Given the description of an element on the screen output the (x, y) to click on. 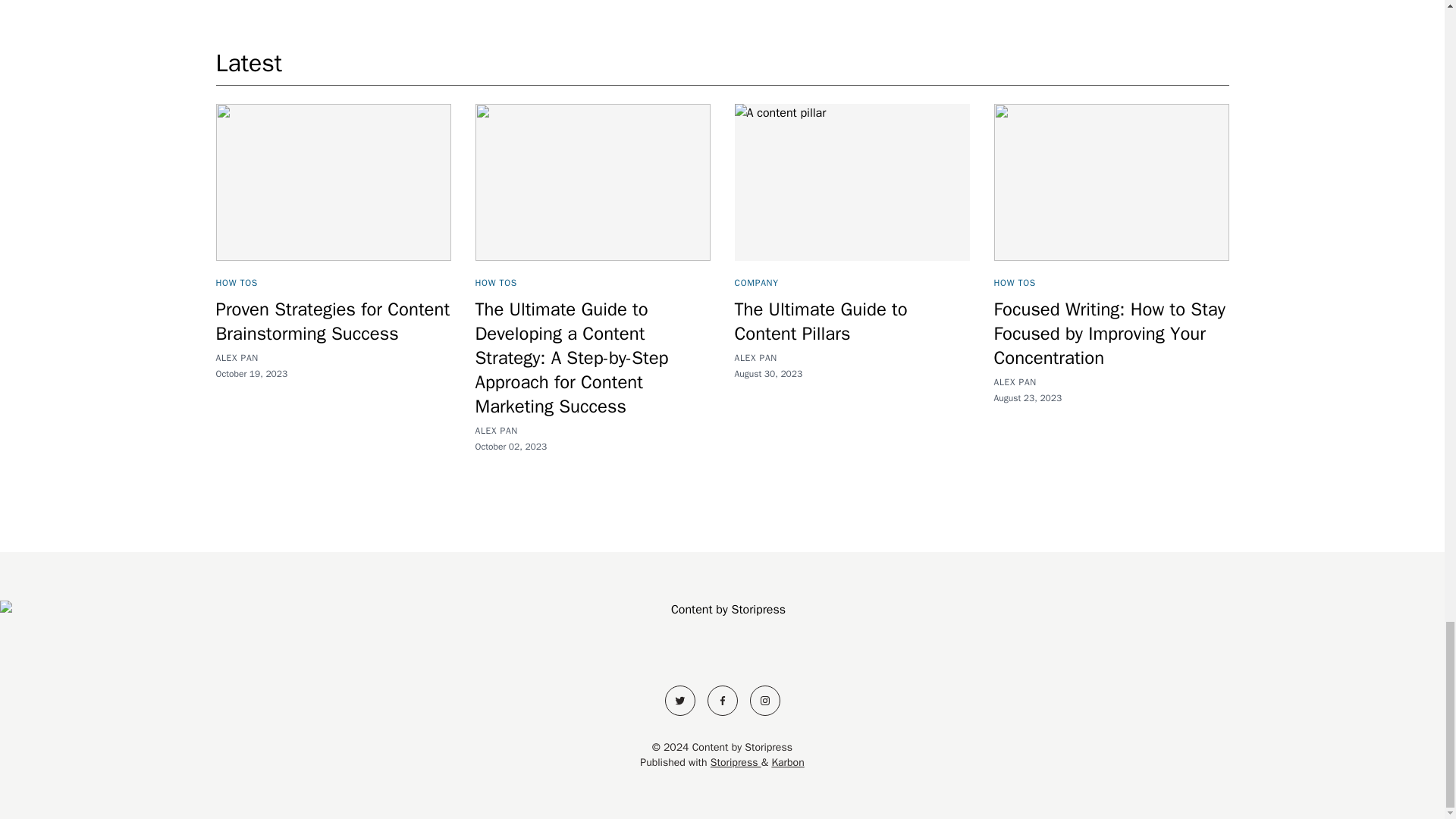
ALEX PAN (754, 357)
HOW TOS (1013, 282)
The Ultimate Guide to Content Pillars (820, 321)
HOW TOS (236, 282)
Proven Strategies for Content Brainstorming Success (332, 321)
HOW TOS (495, 282)
COMPANY (755, 282)
ALEX PAN (236, 357)
